Given the description of an element on the screen output the (x, y) to click on. 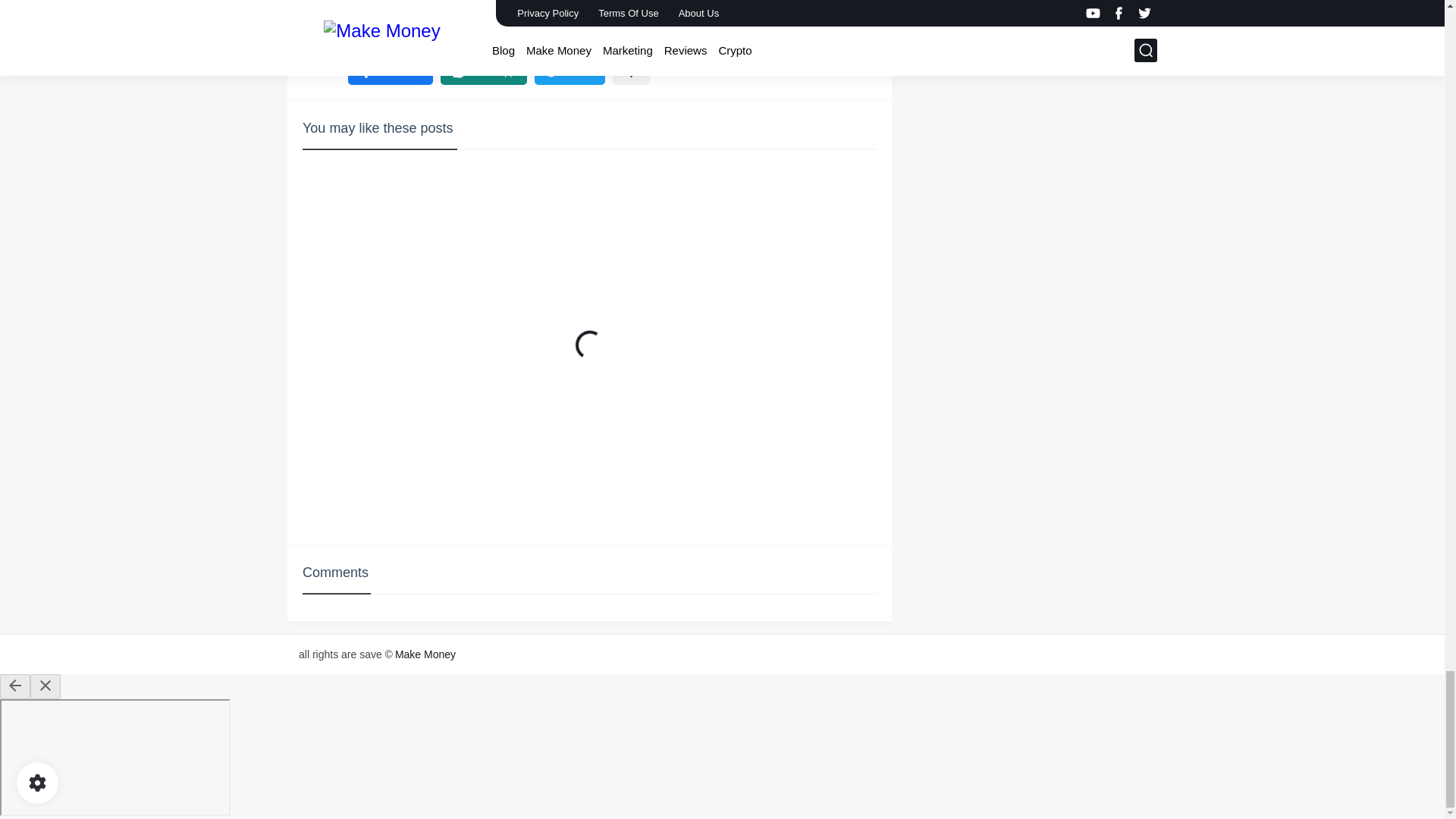
Blog (363, 17)
Make Money (422, 17)
